Given the description of an element on the screen output the (x, y) to click on. 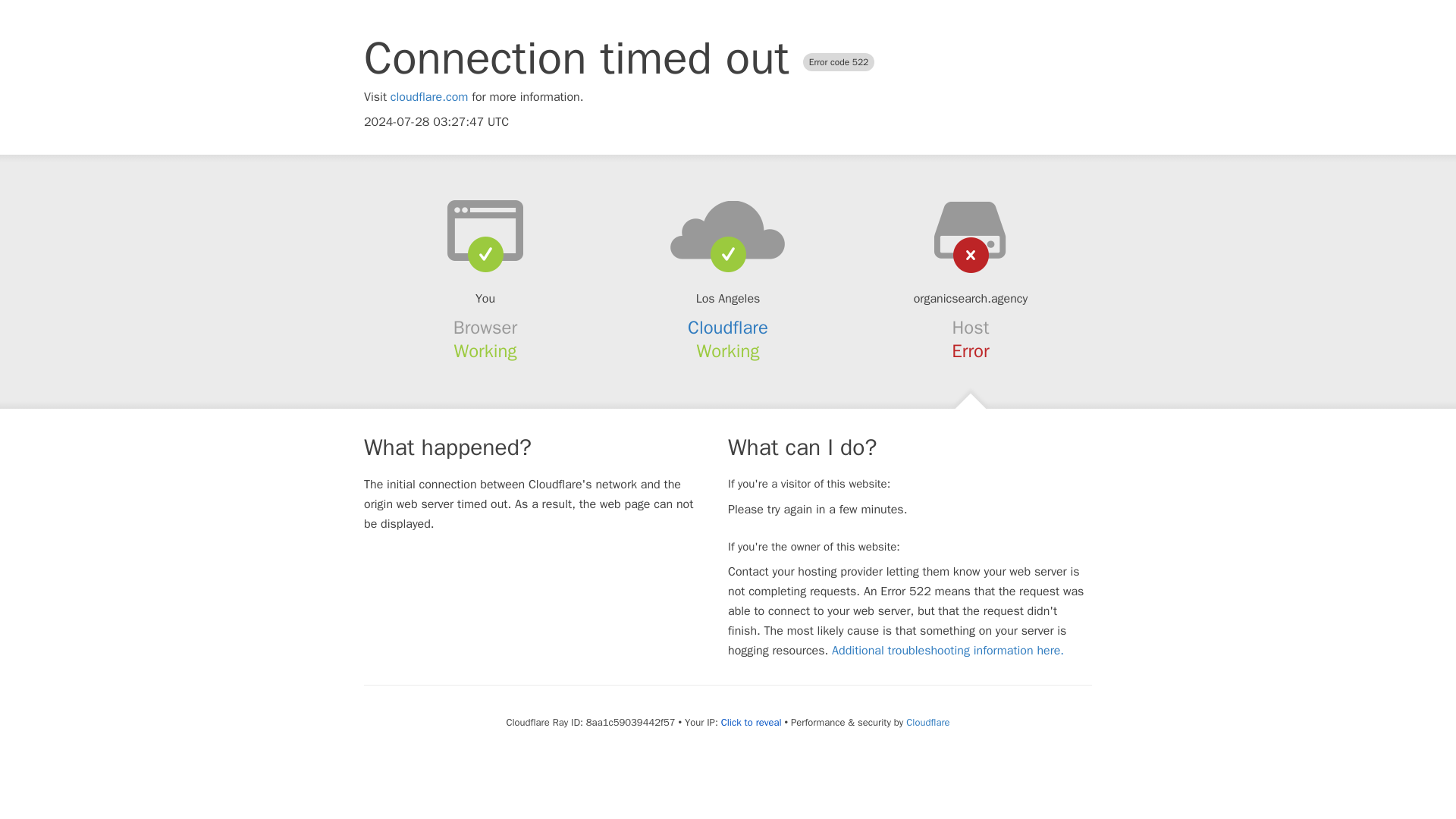
Additional troubleshooting information here. (947, 650)
Cloudflare (927, 721)
Click to reveal (750, 722)
cloudflare.com (429, 96)
Cloudflare (727, 327)
